Given the description of an element on the screen output the (x, y) to click on. 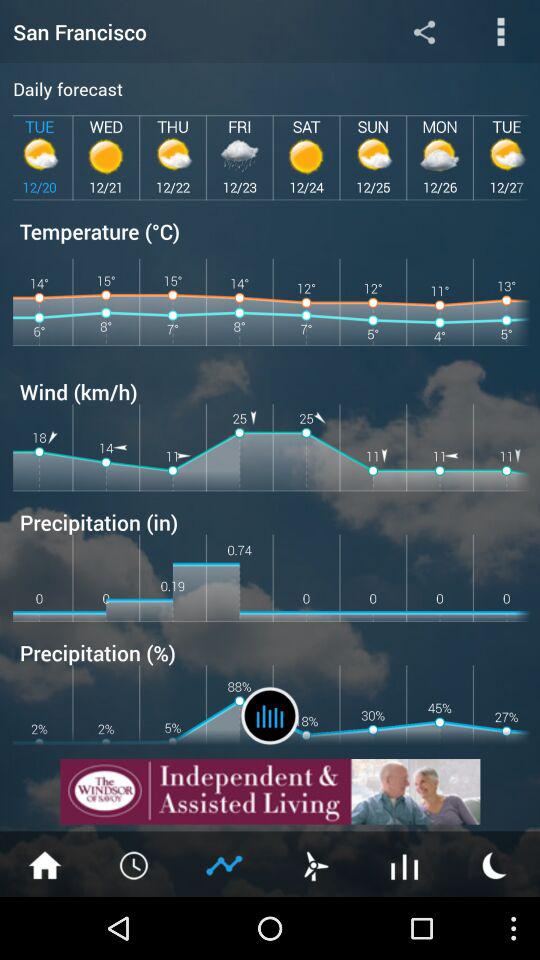
climate changes (269, 715)
